Given the description of an element on the screen output the (x, y) to click on. 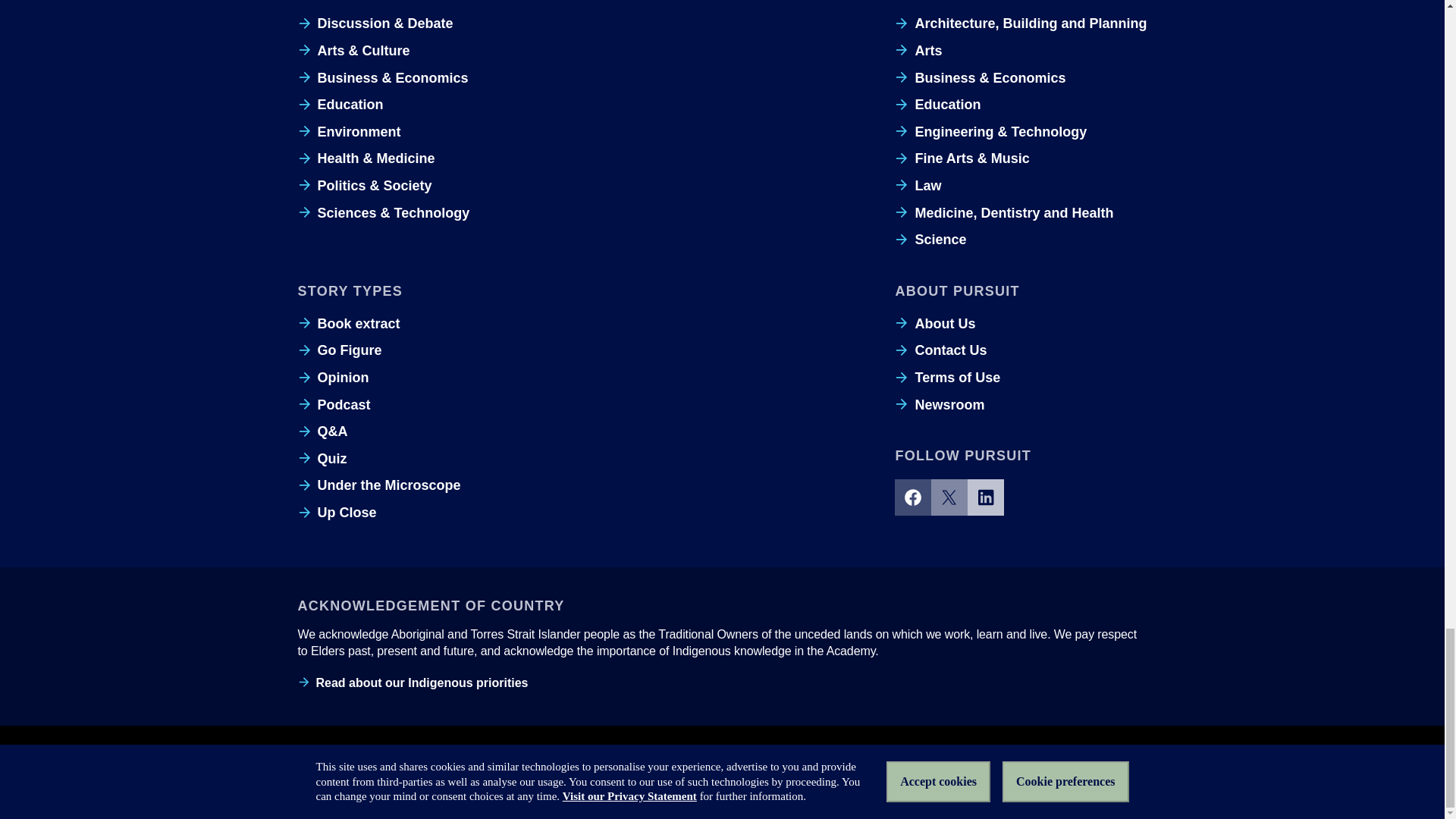
x (949, 497)
Emergency Information (351, 762)
Accessibility (578, 762)
Pursuit terms of use (723, 762)
linkedin (986, 497)
facebook (913, 497)
Privacy (641, 762)
Education (339, 104)
